Given the description of an element on the screen output the (x, y) to click on. 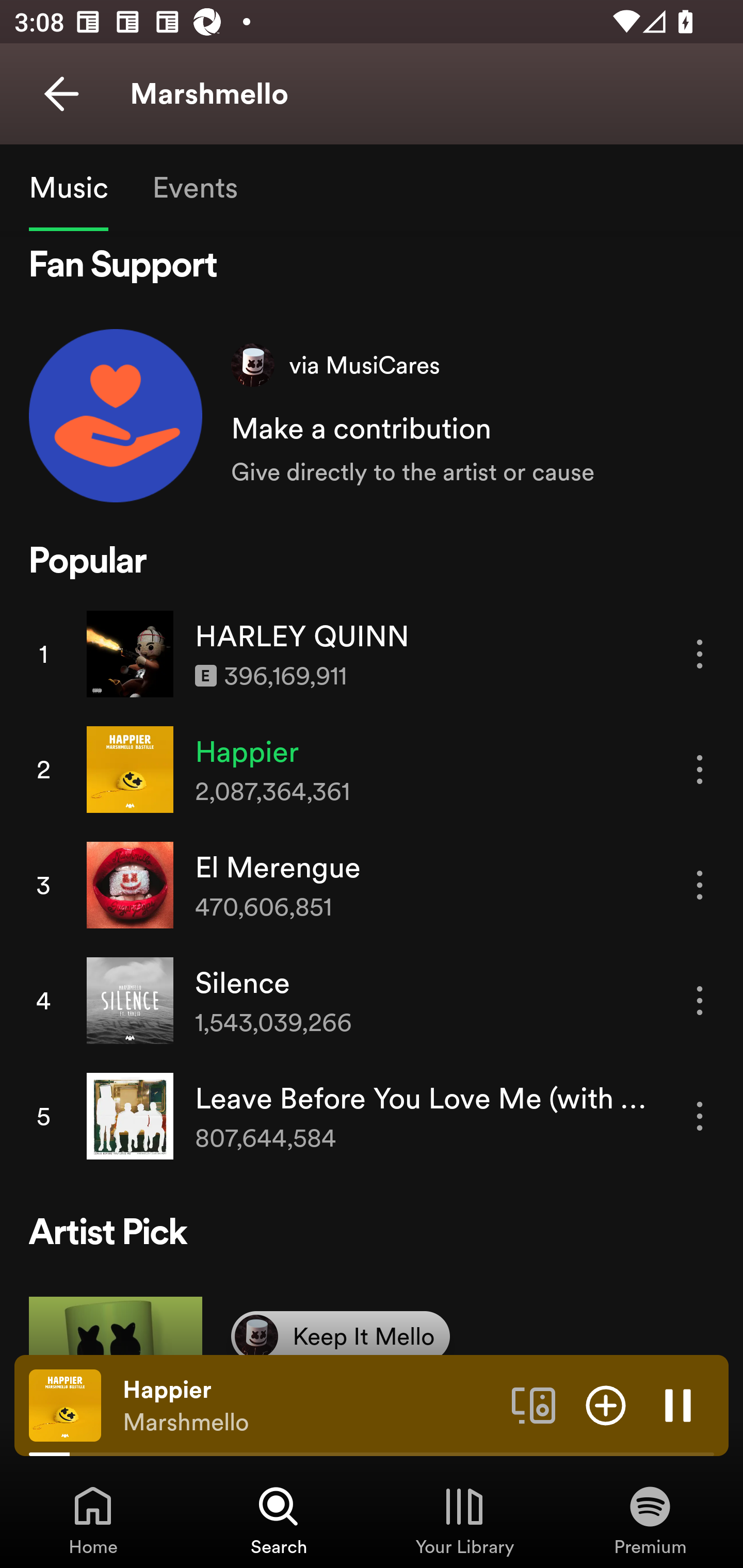
Back (60, 93)
Events (194, 187)
More options for song HARLEY QUINN (699, 653)
More options for song Happier (699, 768)
More options for song El Merengue (699, 885)
More options for song Silence (699, 1001)
Happier Marshmello (309, 1405)
The cover art of the currently playing track (64, 1404)
Connect to a device. Opens the devices menu (533, 1404)
Add item (605, 1404)
Pause (677, 1404)
Home, Tab 1 of 4 Home Home (92, 1519)
Search, Tab 2 of 4 Search Search (278, 1519)
Your Library, Tab 3 of 4 Your Library Your Library (464, 1519)
Premium, Tab 4 of 4 Premium Premium (650, 1519)
